Given the description of an element on the screen output the (x, y) to click on. 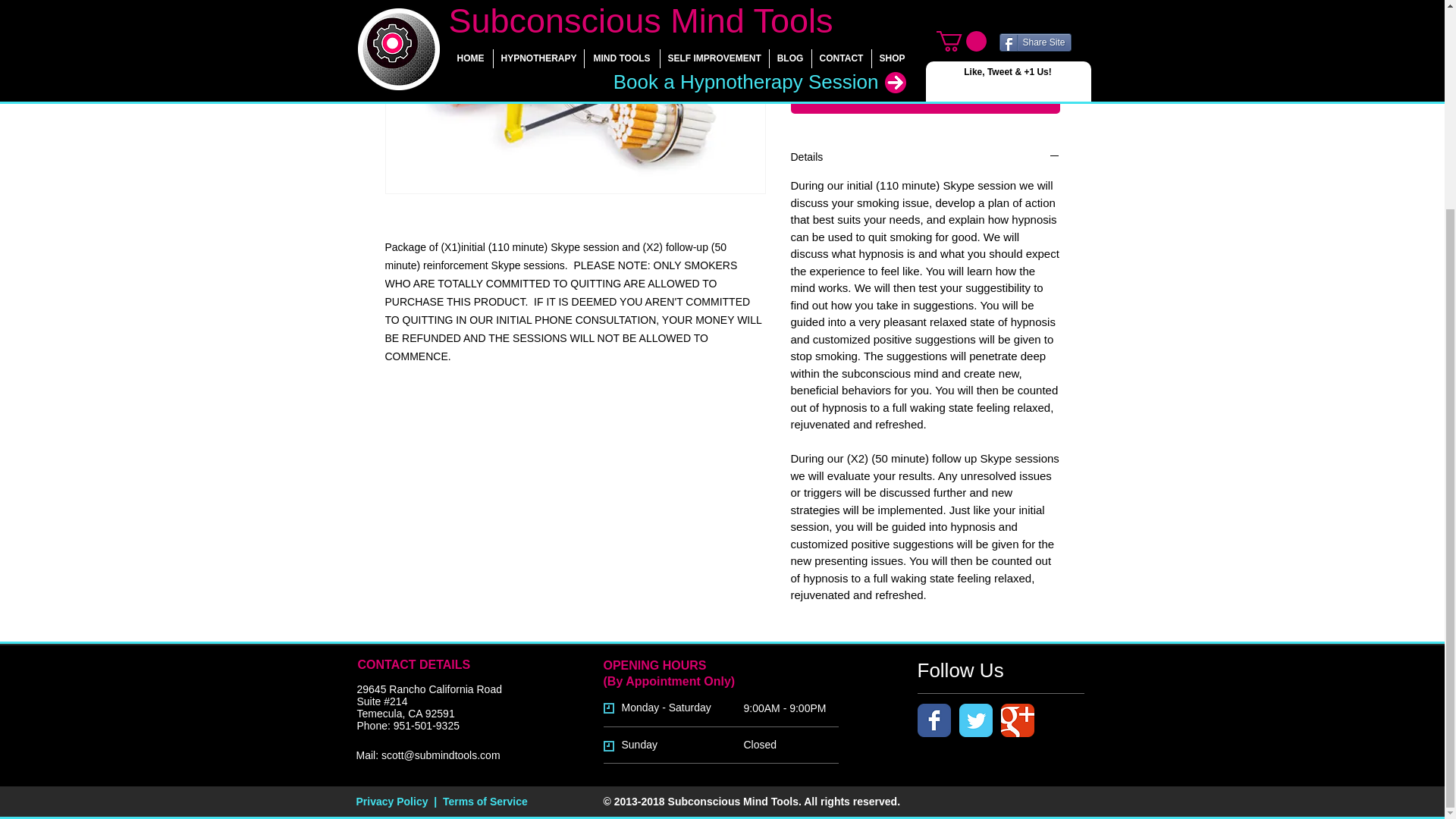
Terms of Service (484, 801)
Details (924, 156)
1 (818, 43)
Privacy Policy (392, 801)
Add to Cart (924, 98)
